Given the description of an element on the screen output the (x, y) to click on. 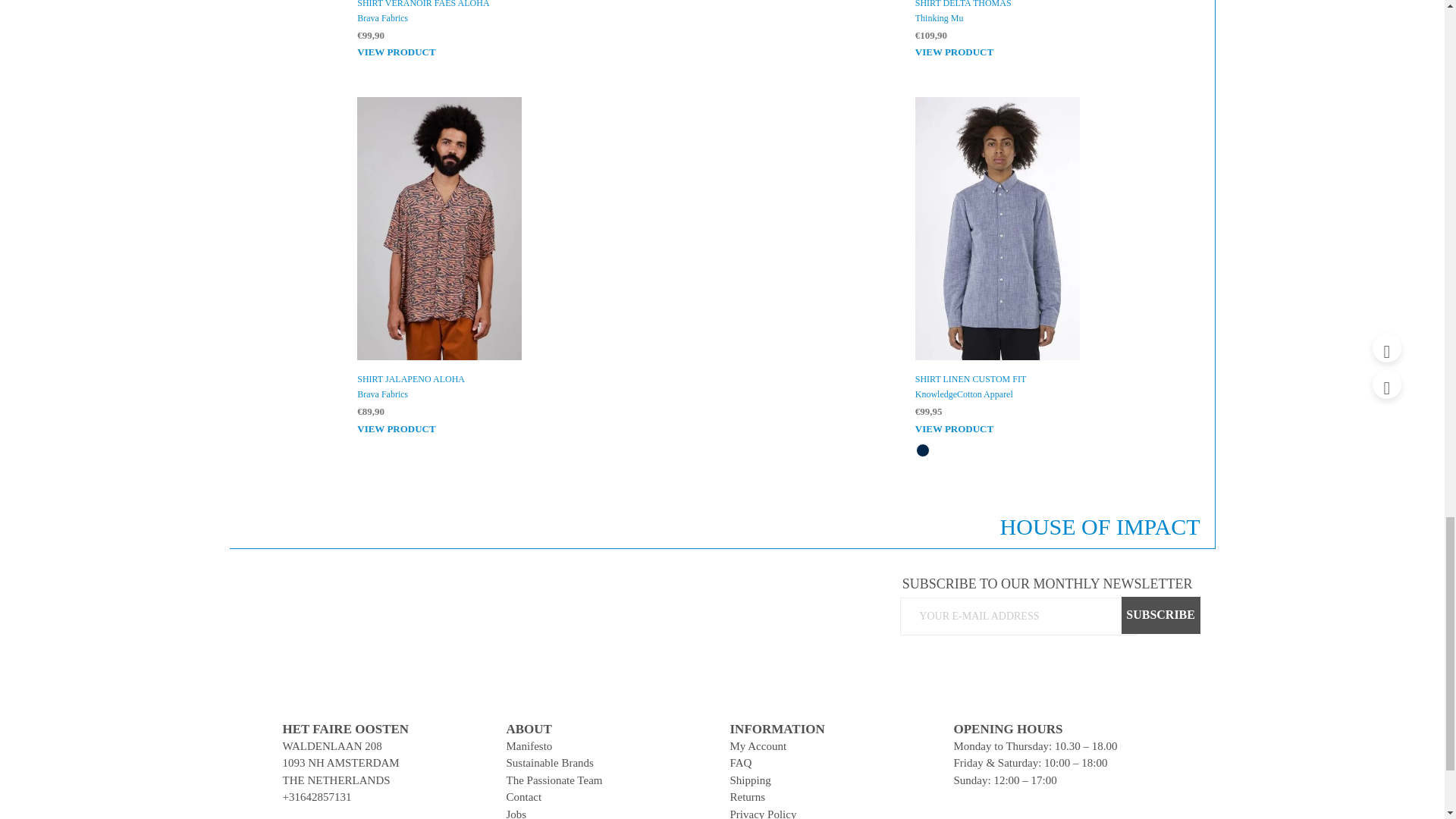
Subscribe (1160, 615)
